Given the description of an element on the screen output the (x, y) to click on. 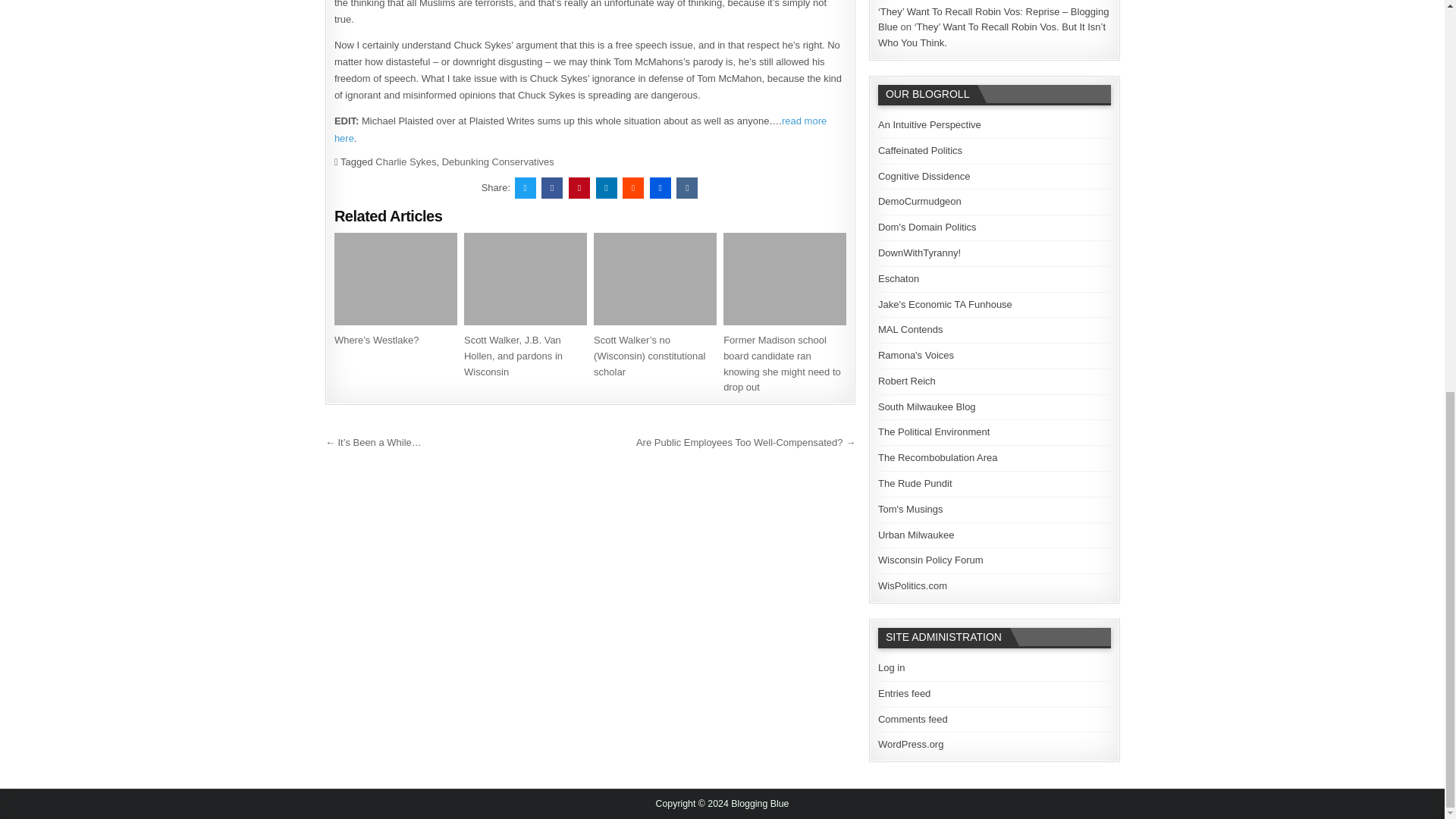
Tweet This! (525, 188)
Debunking Conservatives (498, 161)
Share this on Digg (660, 188)
Scott Walker, J.B. Van Hollen, and pardons in Wisconsin (513, 355)
Share this on VK (687, 188)
Share this on Reddit (633, 188)
Share this on Facebook (551, 188)
Share this on Linkedin (606, 188)
Charlie Sykes (405, 161)
read more here (580, 129)
